Given the description of an element on the screen output the (x, y) to click on. 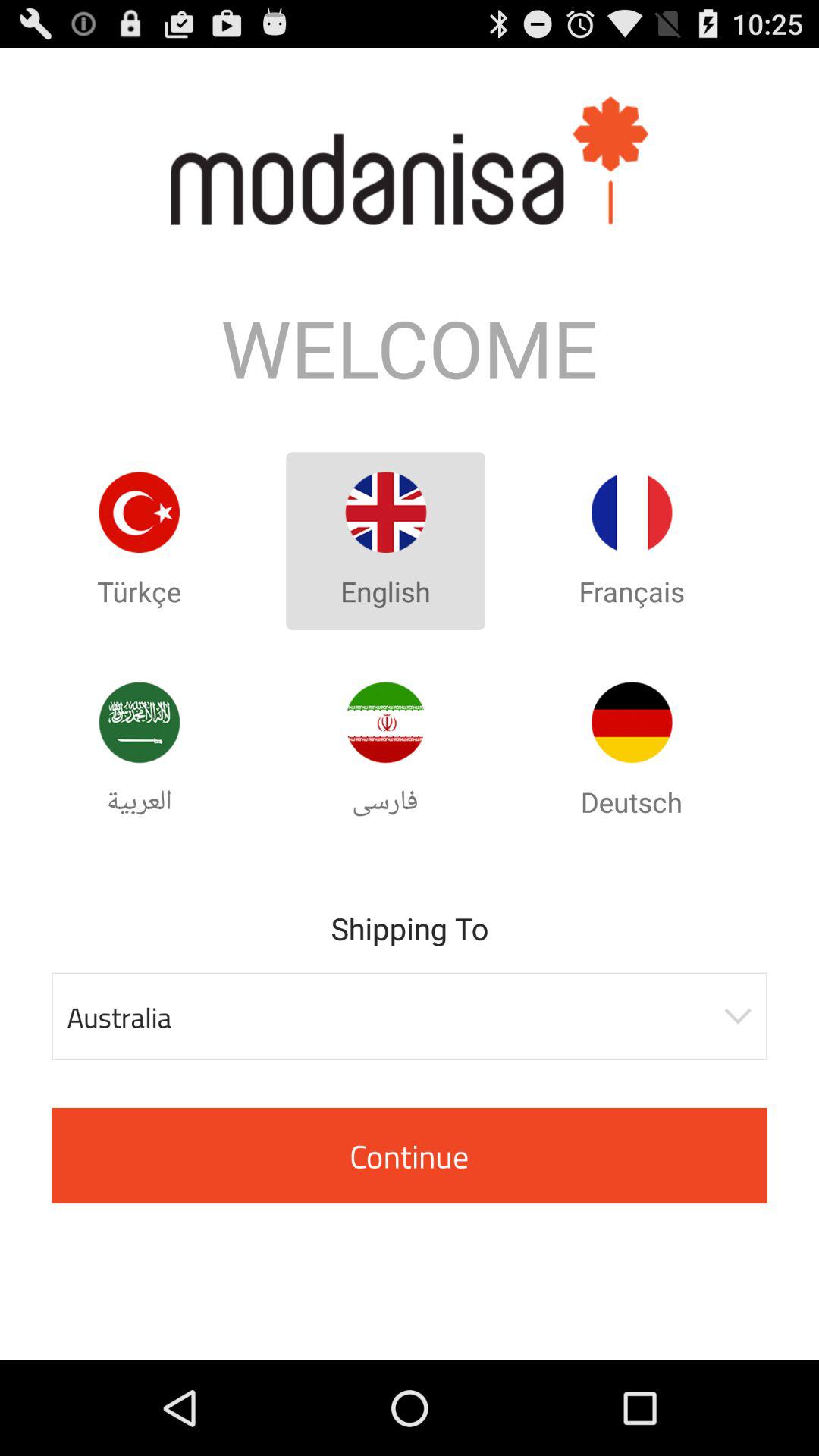
select turkish language (138, 512)
